Given the description of an element on the screen output the (x, y) to click on. 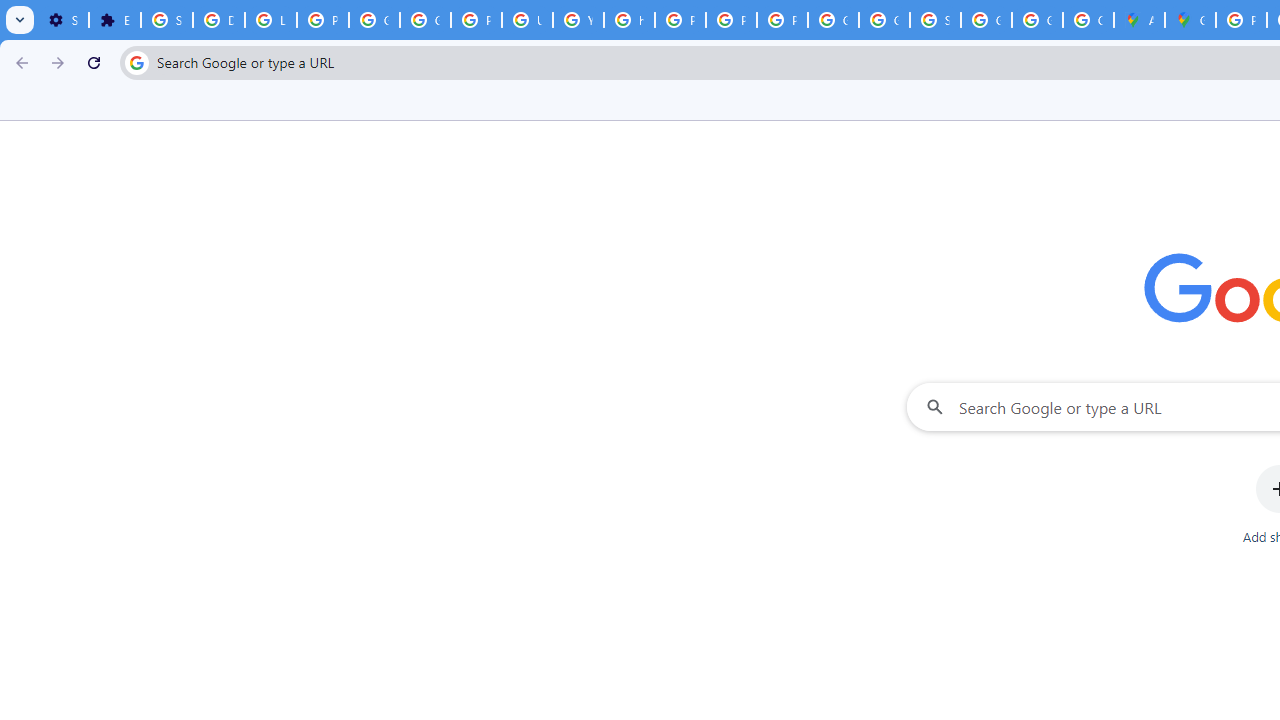
Policy Accountability and Transparency - Transparency Center (1241, 20)
Extensions (114, 20)
Create your Google Account (1087, 20)
Search icon (136, 62)
Sign in - Google Accounts (935, 20)
Sign in - Google Accounts (166, 20)
Privacy Help Center - Policies Help (680, 20)
Learn how to find your photos - Google Photos Help (270, 20)
Google Account Help (374, 20)
https://scholar.google.com/ (629, 20)
